Given the description of an element on the screen output the (x, y) to click on. 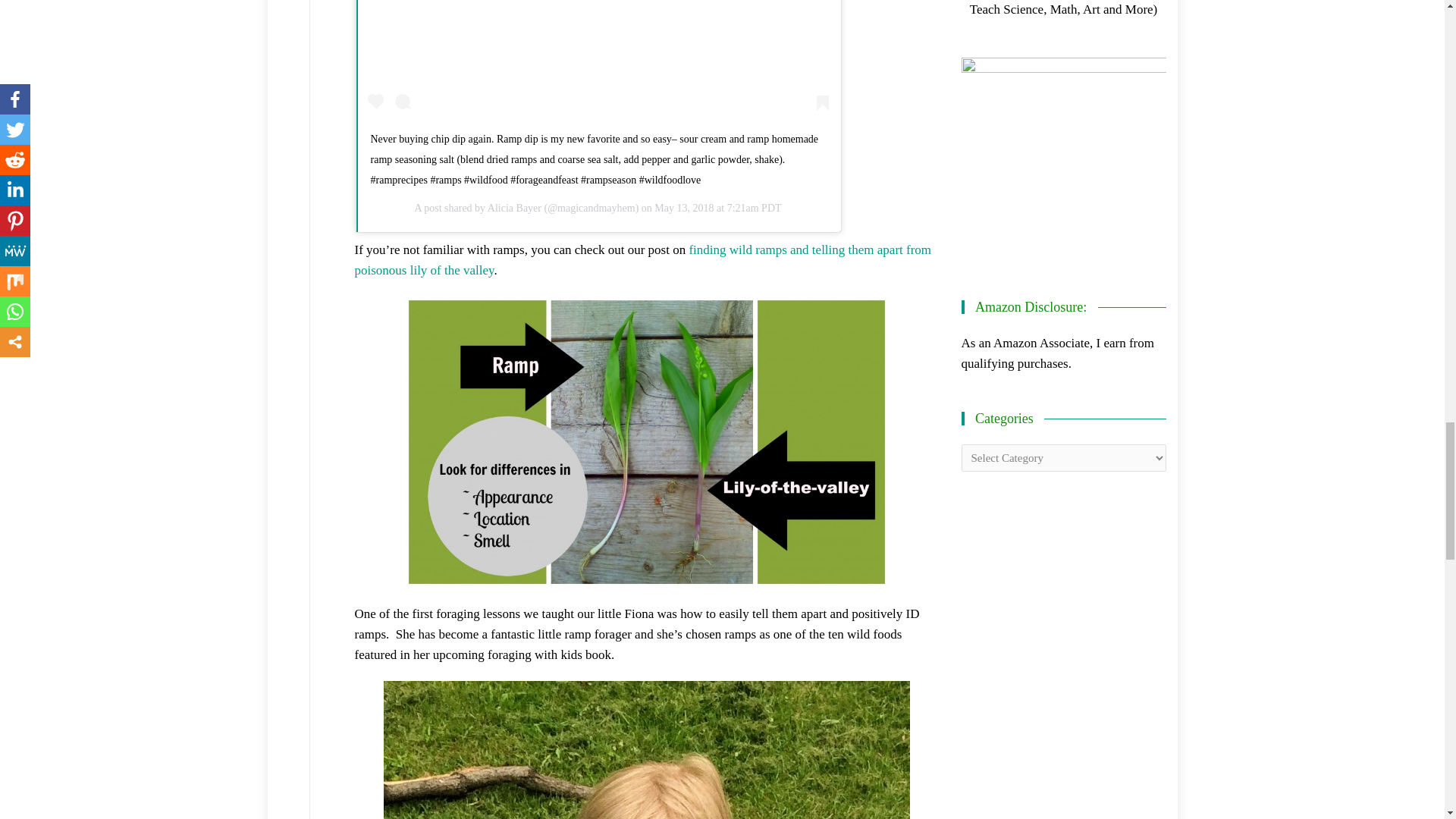
Alicia Bayer (514, 207)
View this post on Instagram (597, 58)
